Given the description of an element on the screen output the (x, y) to click on. 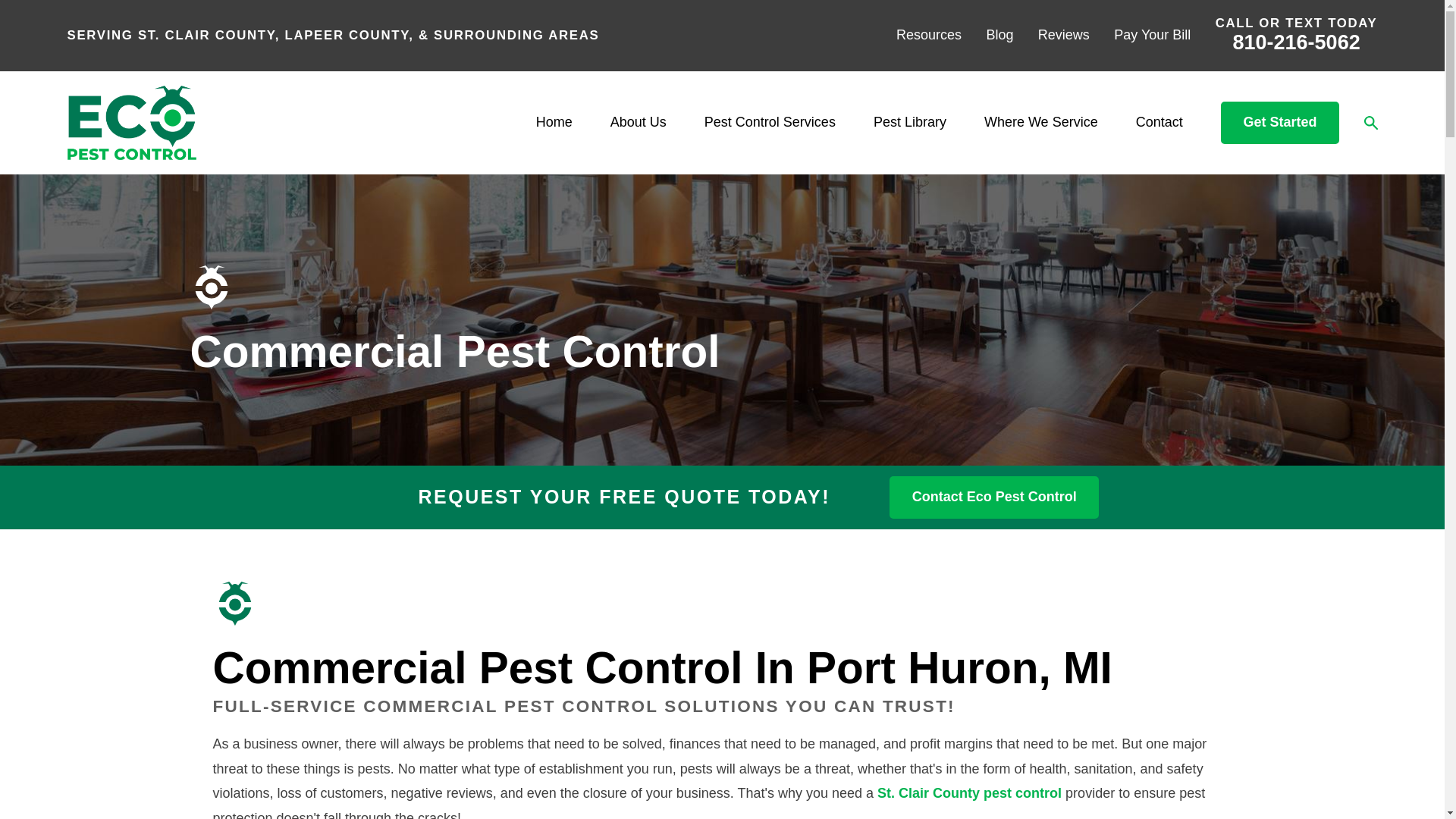
810-216-5062 (1296, 42)
Pay Your Bill (1152, 34)
Pest Library (909, 123)
Resources (928, 34)
Blog (999, 34)
Home (130, 122)
Where We Service (1040, 123)
Pest Control Services (769, 123)
Reviews (1063, 34)
